Given the description of an element on the screen output the (x, y) to click on. 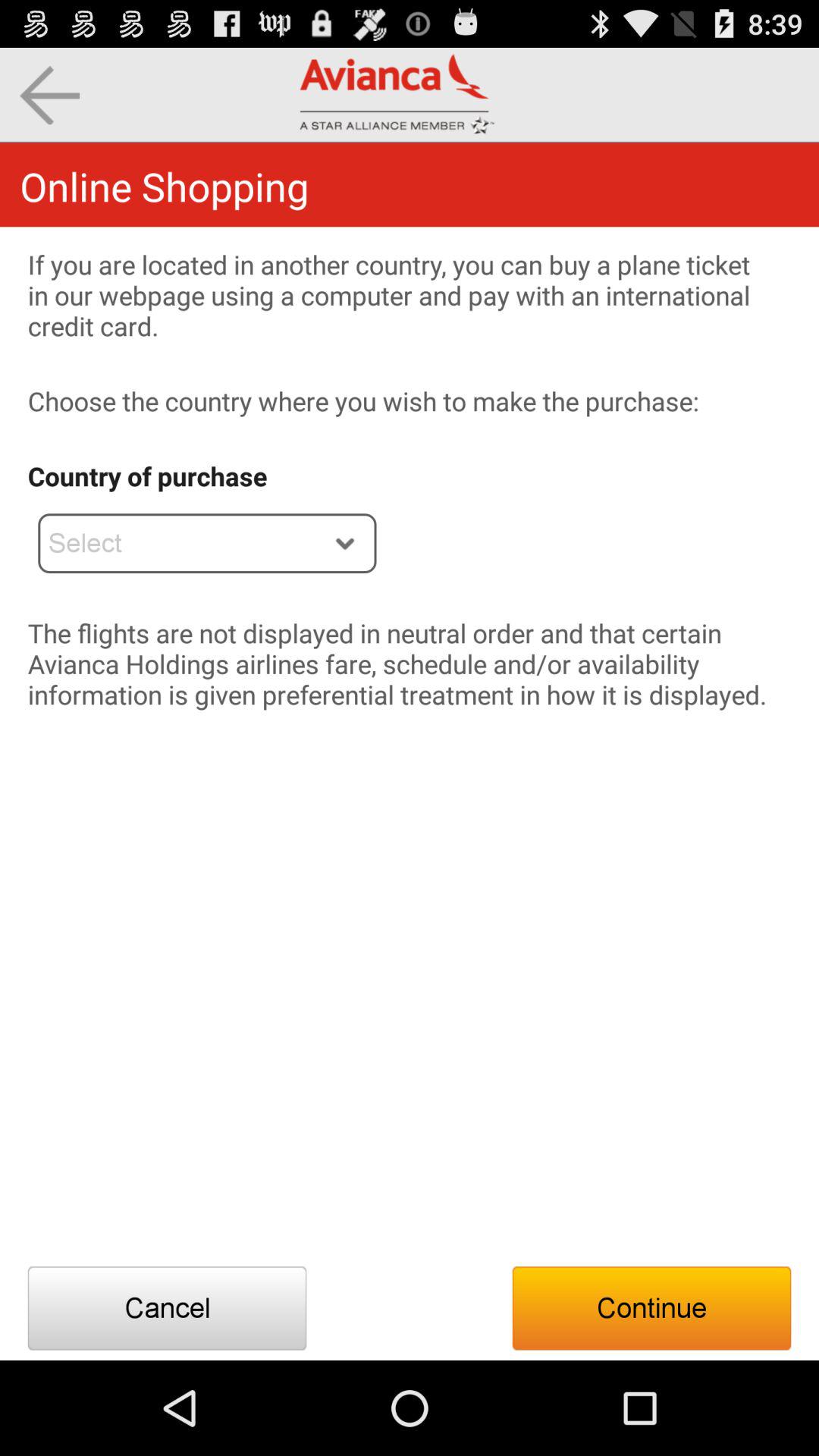
open cancel item (166, 1308)
